Given the description of an element on the screen output the (x, y) to click on. 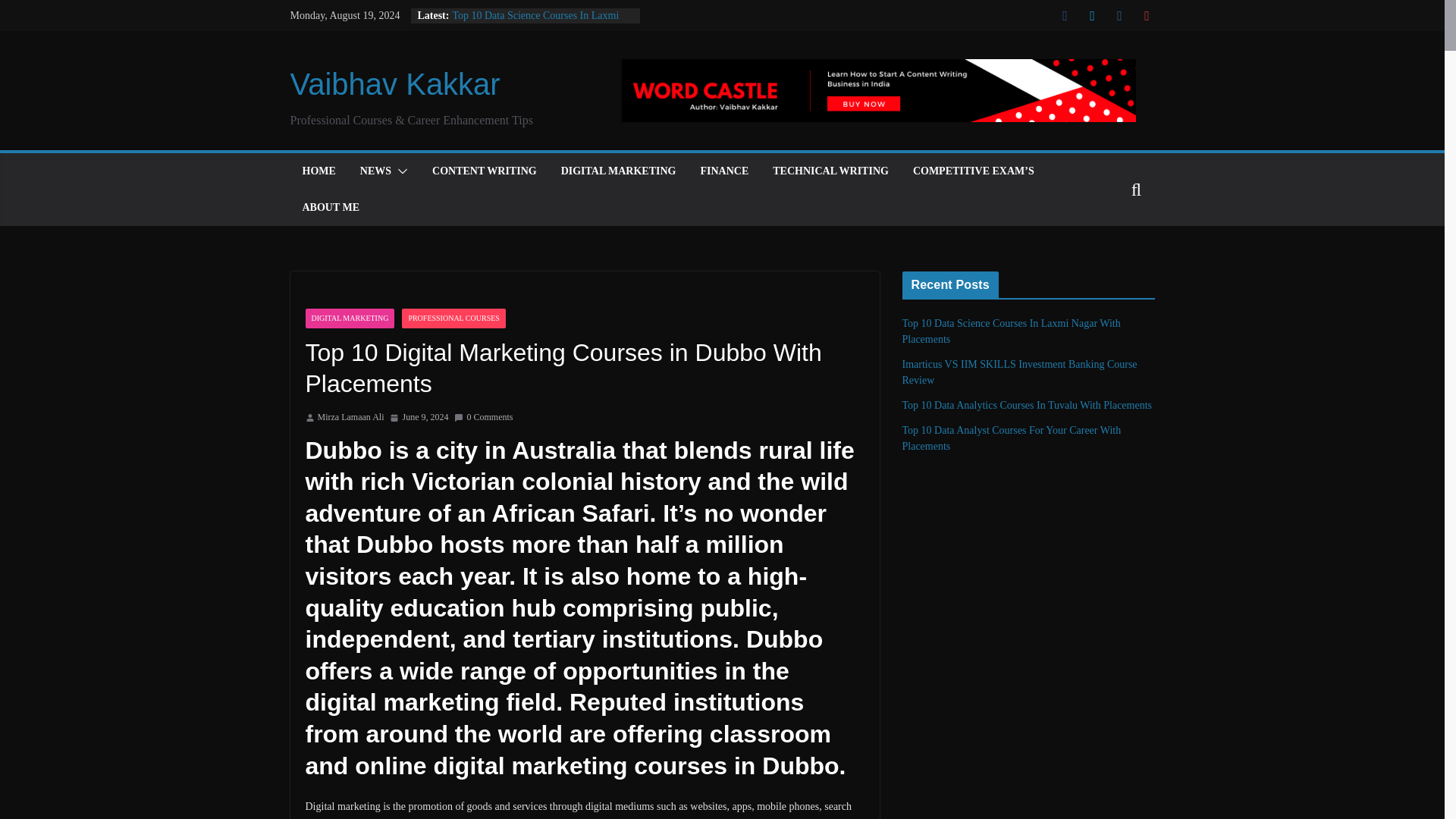
0 Comments (483, 417)
7:56 am (419, 417)
June 9, 2024 (419, 417)
CONTENT WRITING (484, 170)
ABOUT ME (330, 207)
PROFESSIONAL COURSES (453, 318)
HOME (317, 170)
TECHNICAL WRITING (830, 170)
Vaibhav Kakkar (394, 83)
Mirza Lamaan Ali (350, 417)
